Given the description of an element on the screen output the (x, y) to click on. 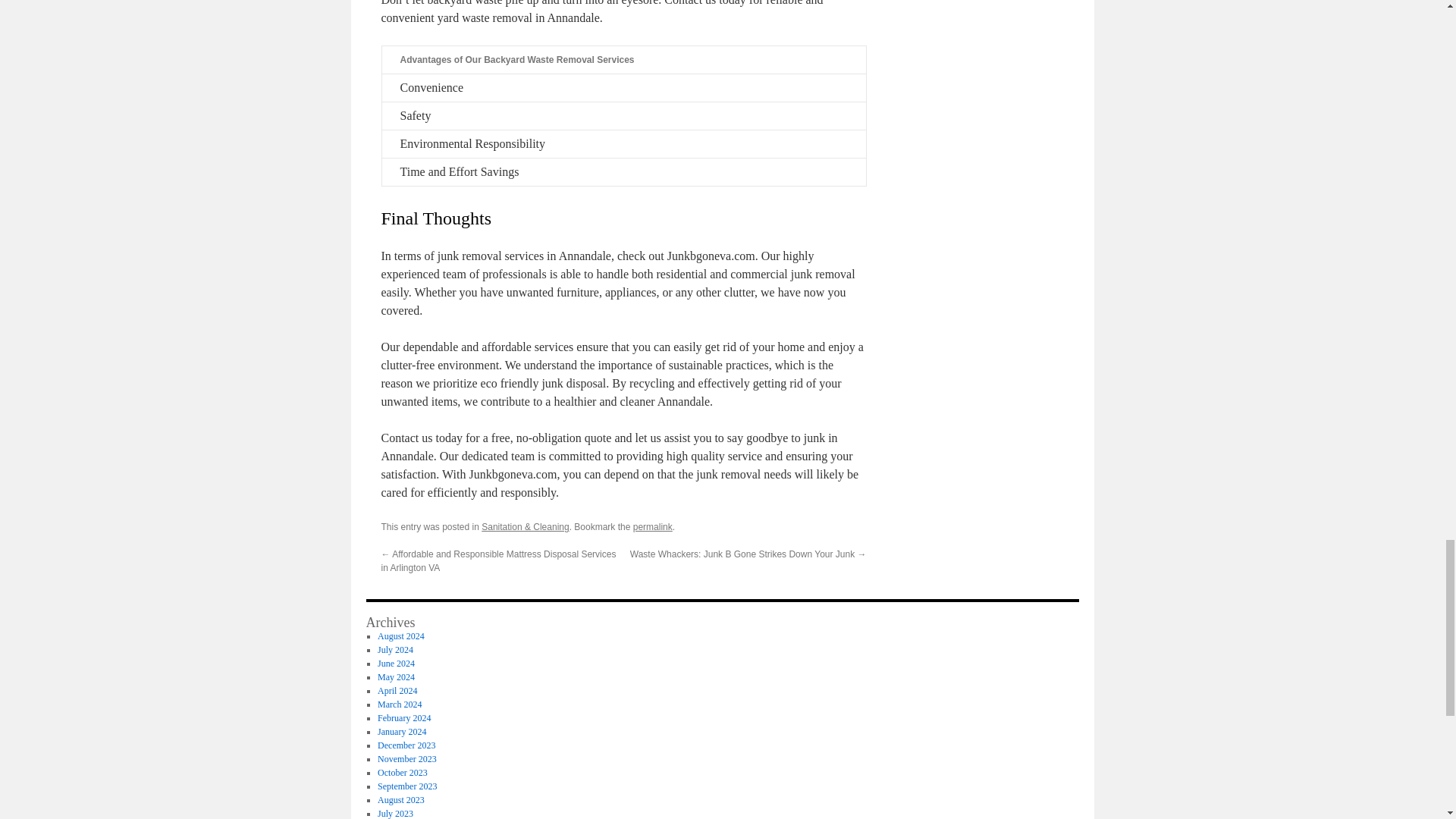
August 2024 (401, 635)
Permalink to Junk B Gone: Your Cleanup Crew on Speed Dial (652, 526)
November 2023 (406, 758)
January 2024 (401, 731)
permalink (652, 526)
December 2023 (406, 745)
March 2024 (399, 704)
July 2024 (395, 649)
October 2023 (402, 772)
April 2024 (396, 690)
September 2023 (406, 786)
May 2024 (395, 676)
July 2023 (395, 813)
August 2023 (401, 799)
February 2024 (403, 717)
